Given the description of an element on the screen output the (x, y) to click on. 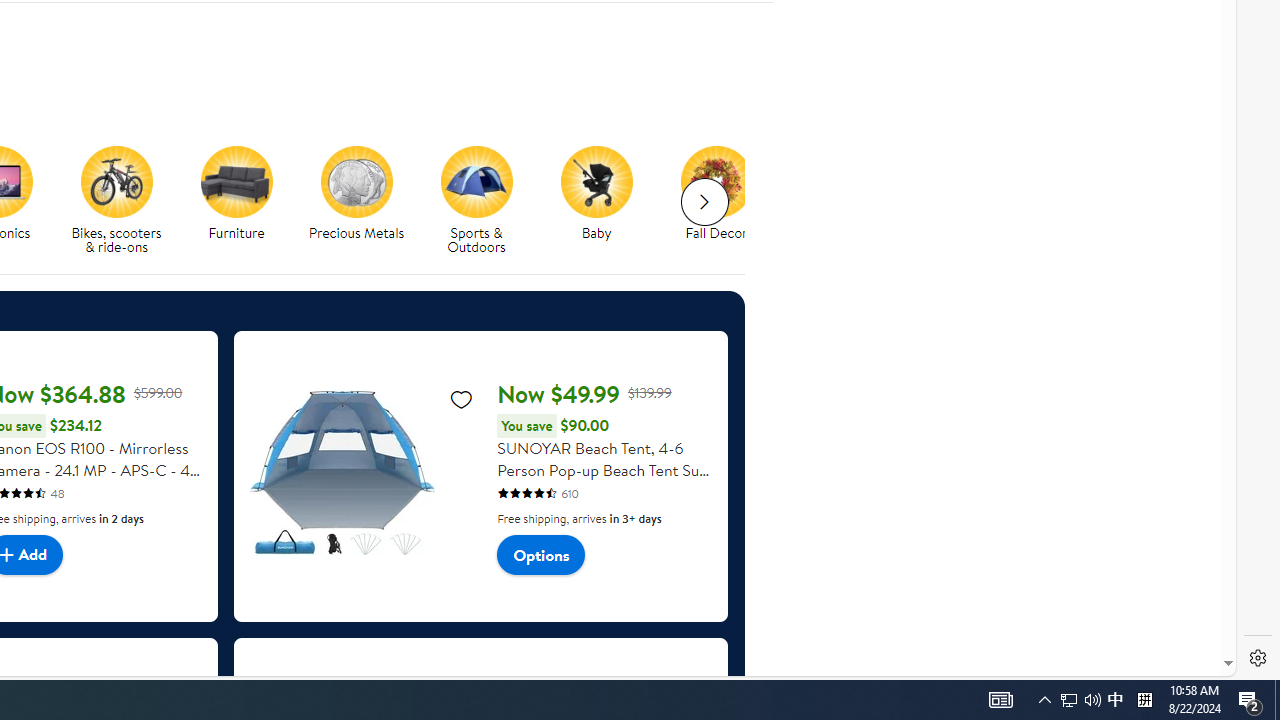
Fall Decor (724, 200)
Precious Metals (364, 200)
Bikes, scooters & ride-ons (124, 200)
Furniture (244, 200)
Precious Metals Precious Metals (356, 194)
Fall Decor Fall Decor (716, 194)
Sports & Outdoors (476, 181)
Baby Baby (596, 194)
Baby (596, 181)
Fall Decor (715, 181)
Furniture Furniture (236, 194)
Sports & Outdoors Sports & Outdoors (475, 200)
